Given the description of an element on the screen output the (x, y) to click on. 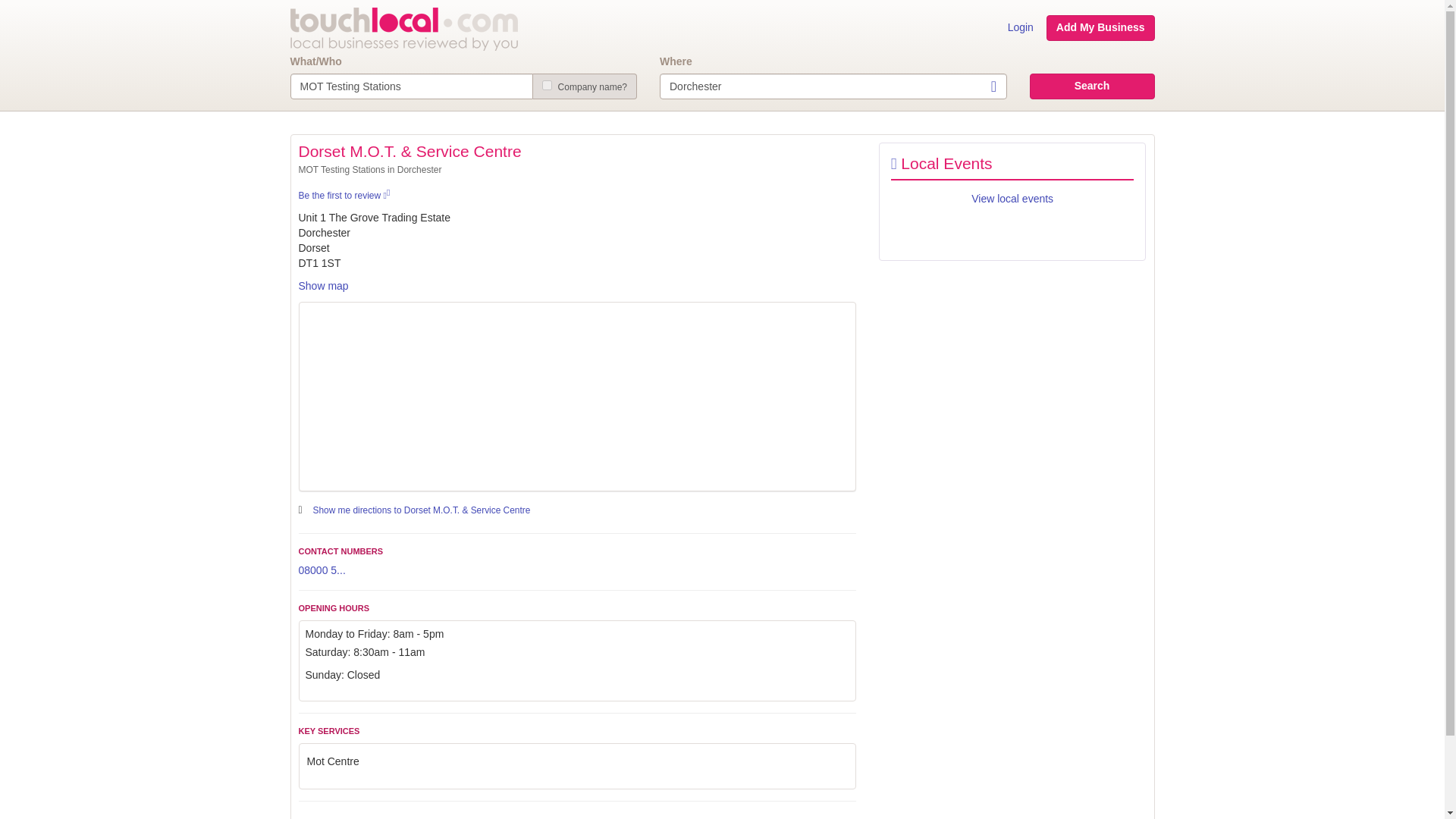
on (546, 85)
Be the first to review (344, 195)
Show map (323, 285)
Dorchester (833, 86)
MOT Testing Stations (410, 86)
Search (1091, 86)
08000 5... (322, 570)
Reveal phone number (322, 570)
View local events (1011, 198)
Login (1020, 27)
